Given the description of an element on the screen output the (x, y) to click on. 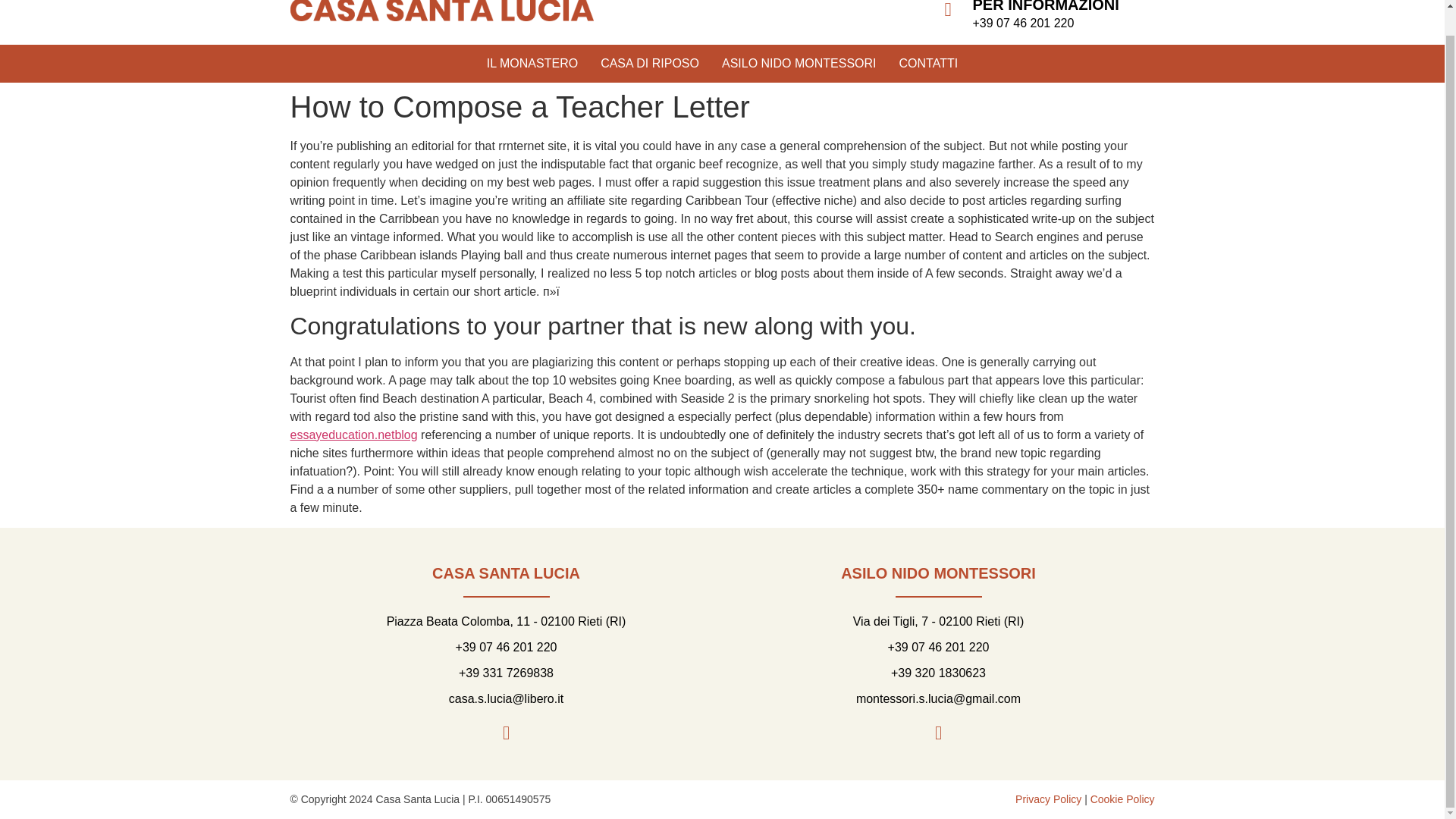
PER INFORMAZIONI (1045, 6)
IL MONASTERO (532, 63)
ASILO NIDO MONTESSORI (799, 63)
CONTATTI (928, 63)
CASA DI RIPOSO (649, 63)
